Given the description of an element on the screen output the (x, y) to click on. 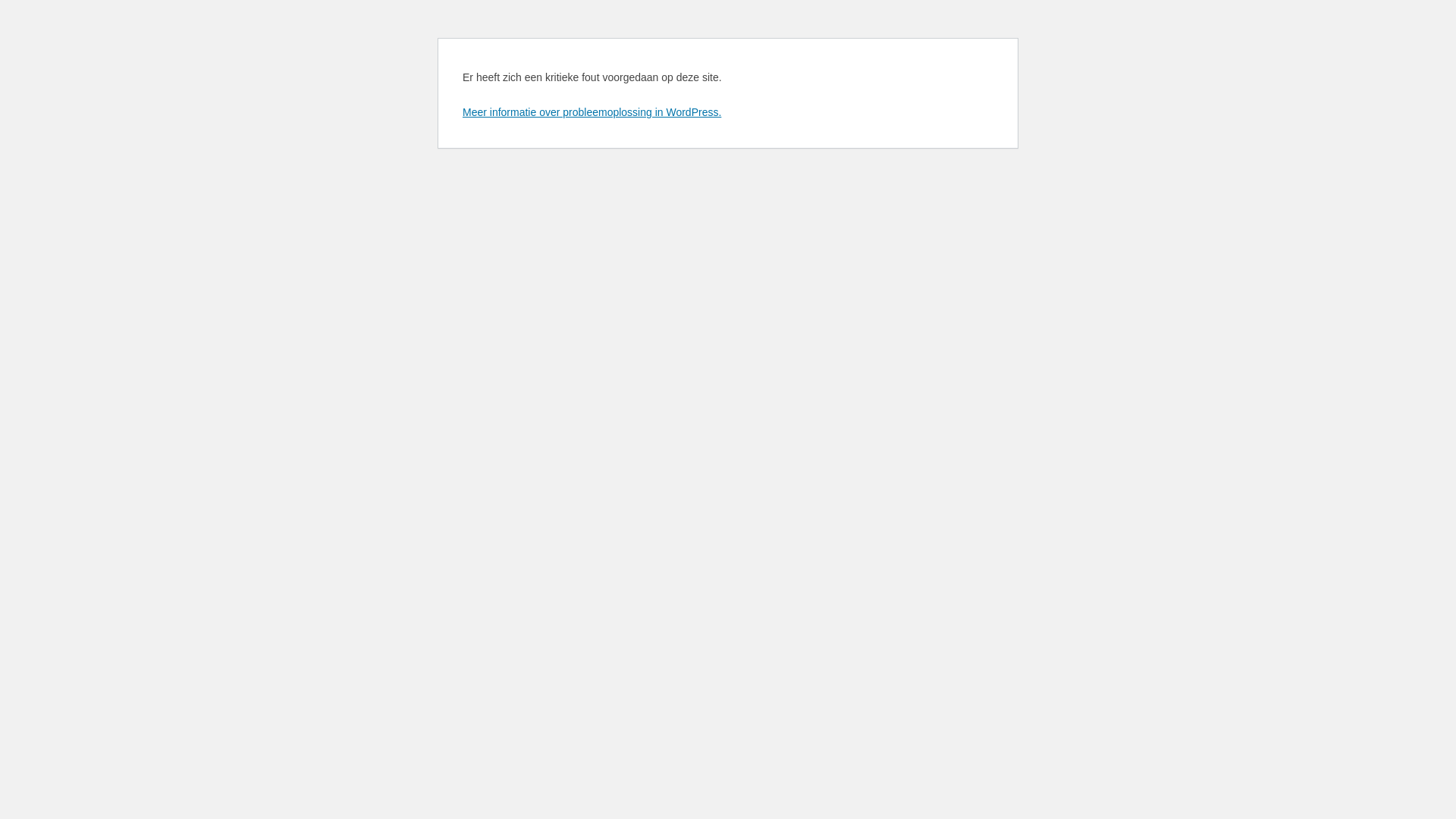
Meer informatie over probleemoplossing in WordPress. Element type: text (591, 112)
